Given the description of an element on the screen output the (x, y) to click on. 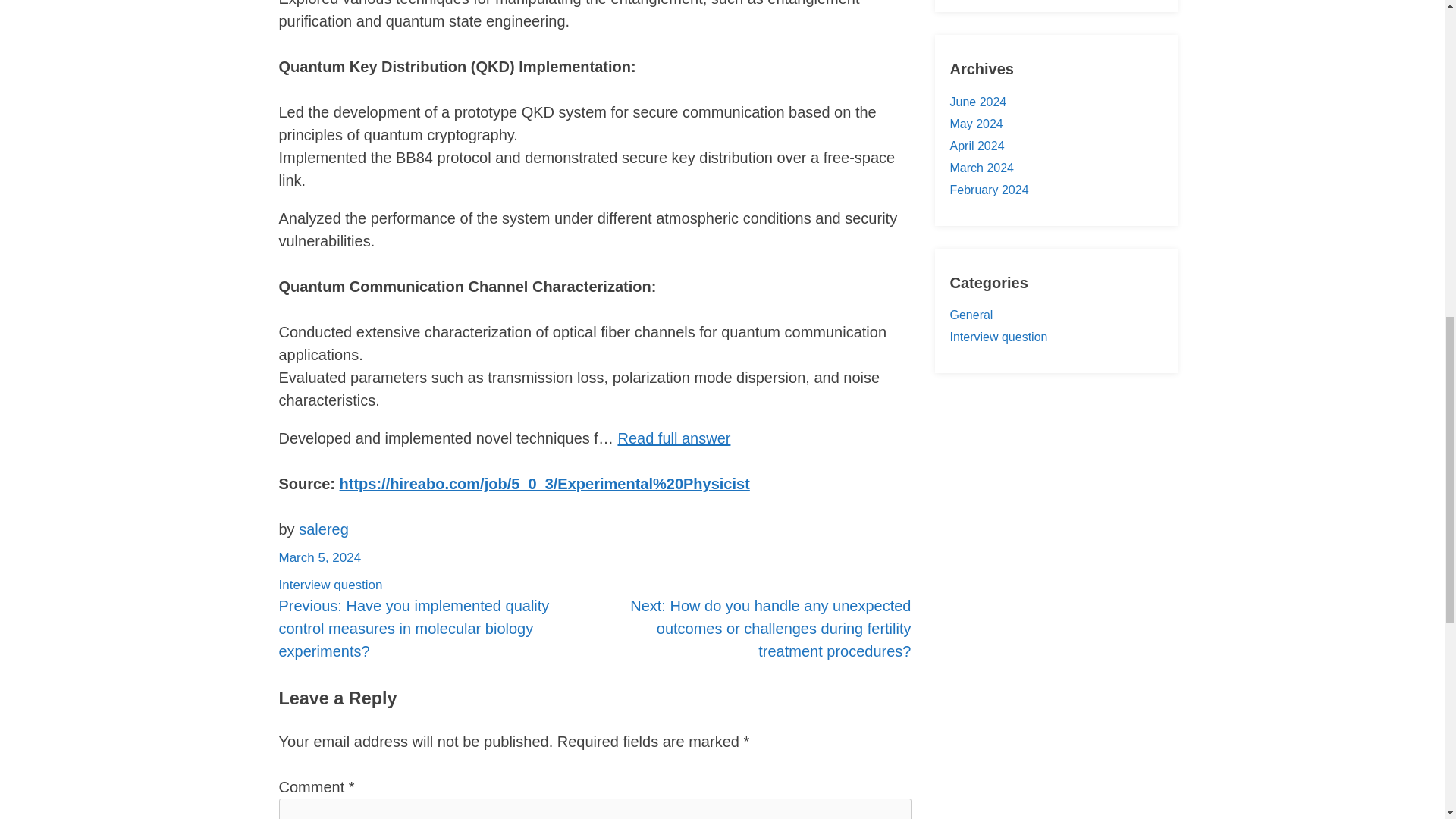
February 2024 (988, 189)
June 2024 (977, 101)
April 2024 (976, 145)
Read full answer (673, 437)
Interview question (997, 336)
March 5, 2024 (320, 557)
General (970, 314)
Interview question (330, 585)
May 2024 (976, 123)
March 2024 (981, 167)
salereg (323, 528)
